Given the description of an element on the screen output the (x, y) to click on. 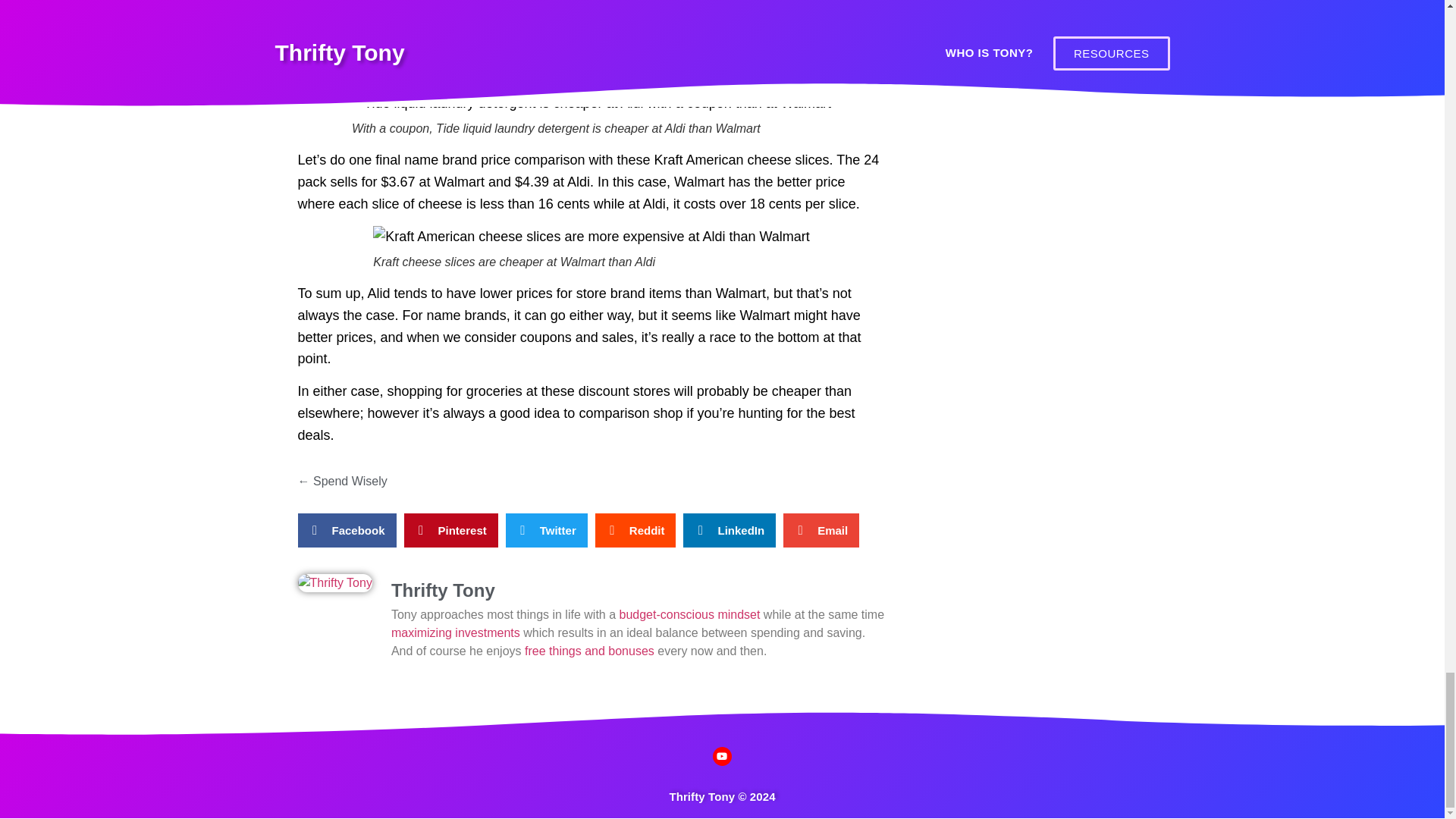
free things and bonuses (588, 650)
maximizing investments (455, 632)
budget-conscious mindset (690, 614)
Spend Wisely (350, 481)
Thrifty Tony (638, 590)
